Given the description of an element on the screen output the (x, y) to click on. 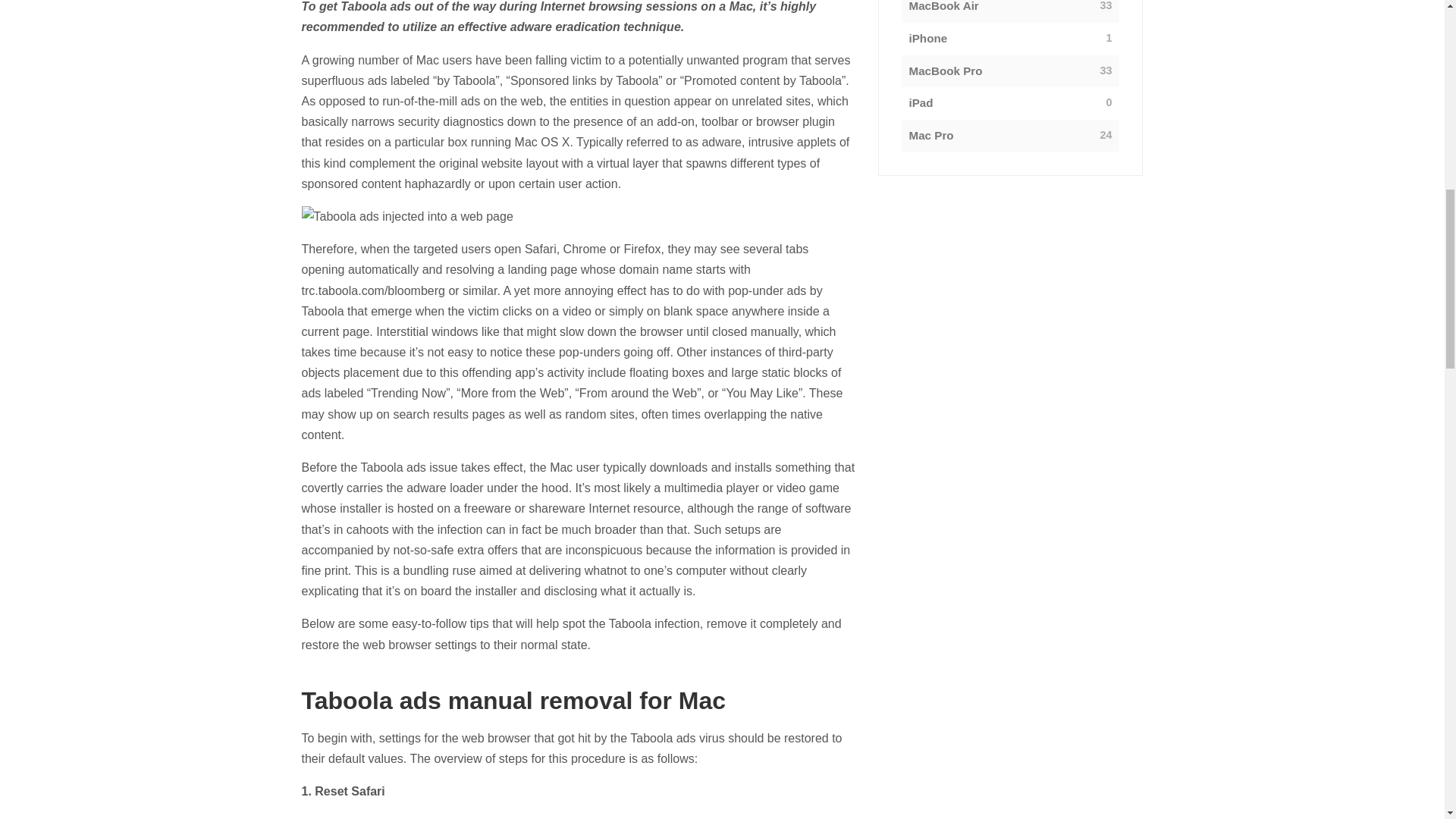
Taboola ads injected into a web page (578, 216)
MacBook Air (943, 7)
MacBook Pro (944, 71)
iPhone (927, 38)
iPad (920, 103)
